Given the description of an element on the screen output the (x, y) to click on. 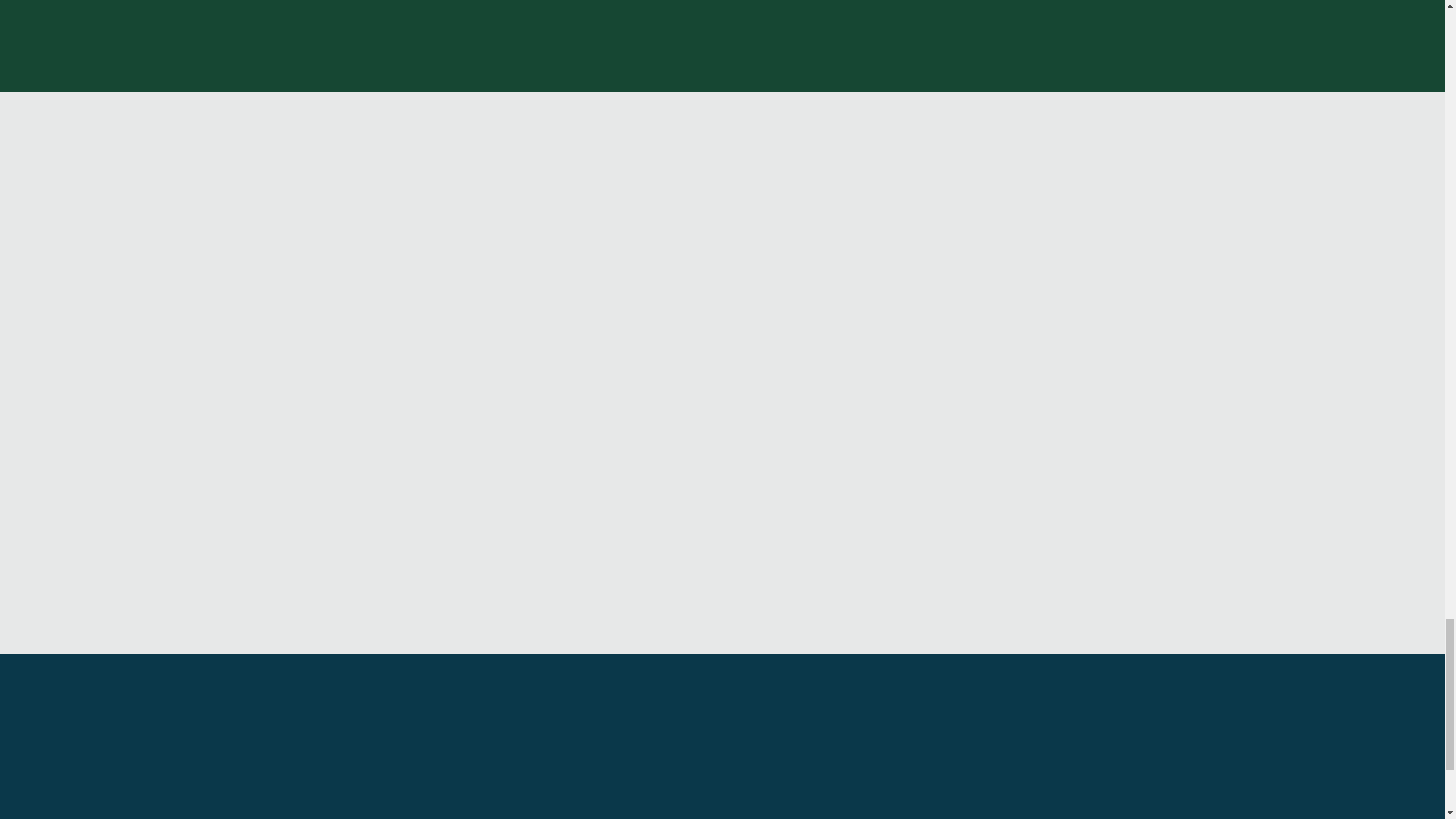
Get in touch (721, 812)
